Given the description of an element on the screen output the (x, y) to click on. 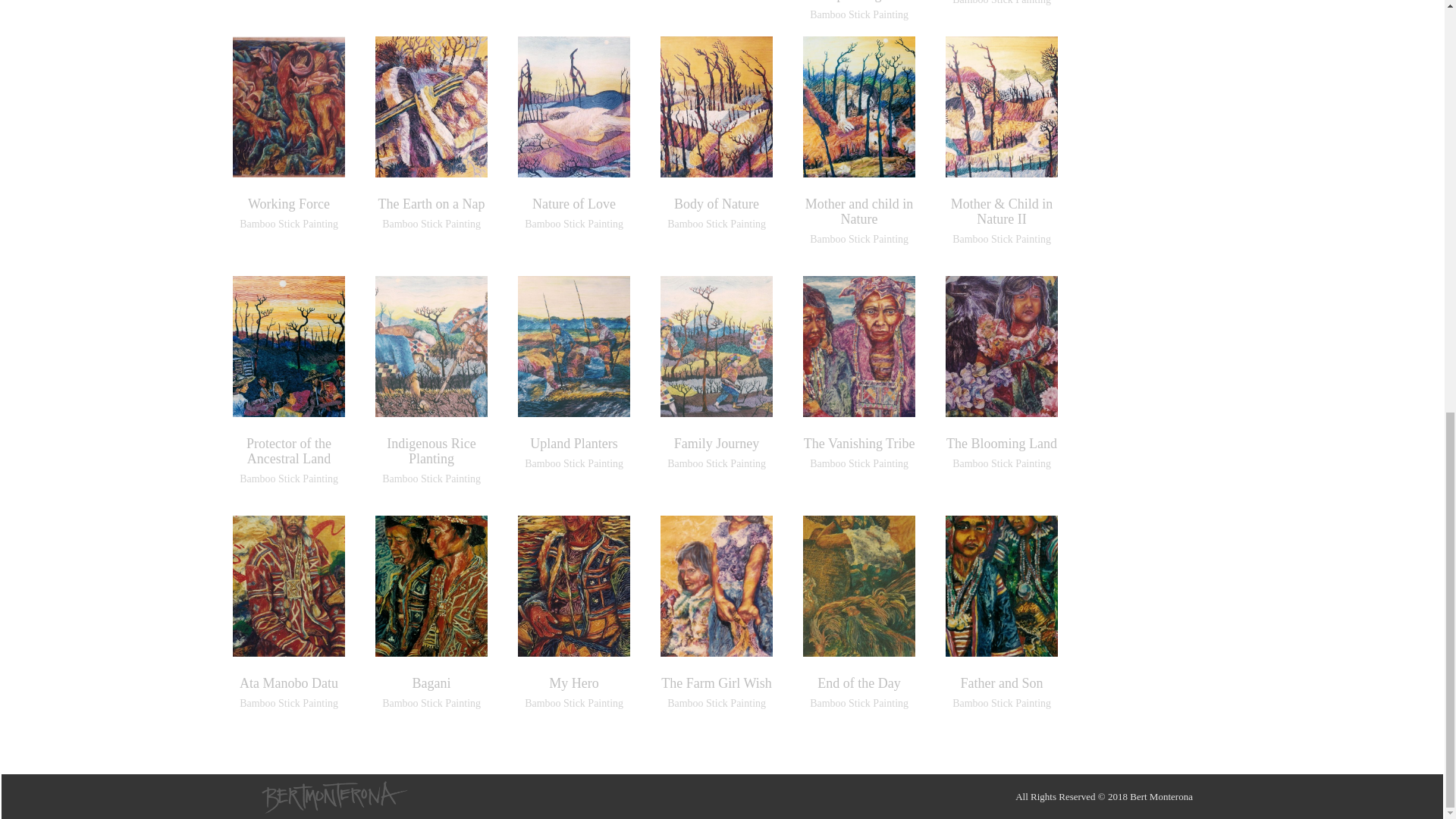
Love in Paradise, Bamboo stick painting (857, 1)
Nature of Love (573, 203)
The Earth on a Nap (431, 203)
Working Force (288, 203)
